Given the description of an element on the screen output the (x, y) to click on. 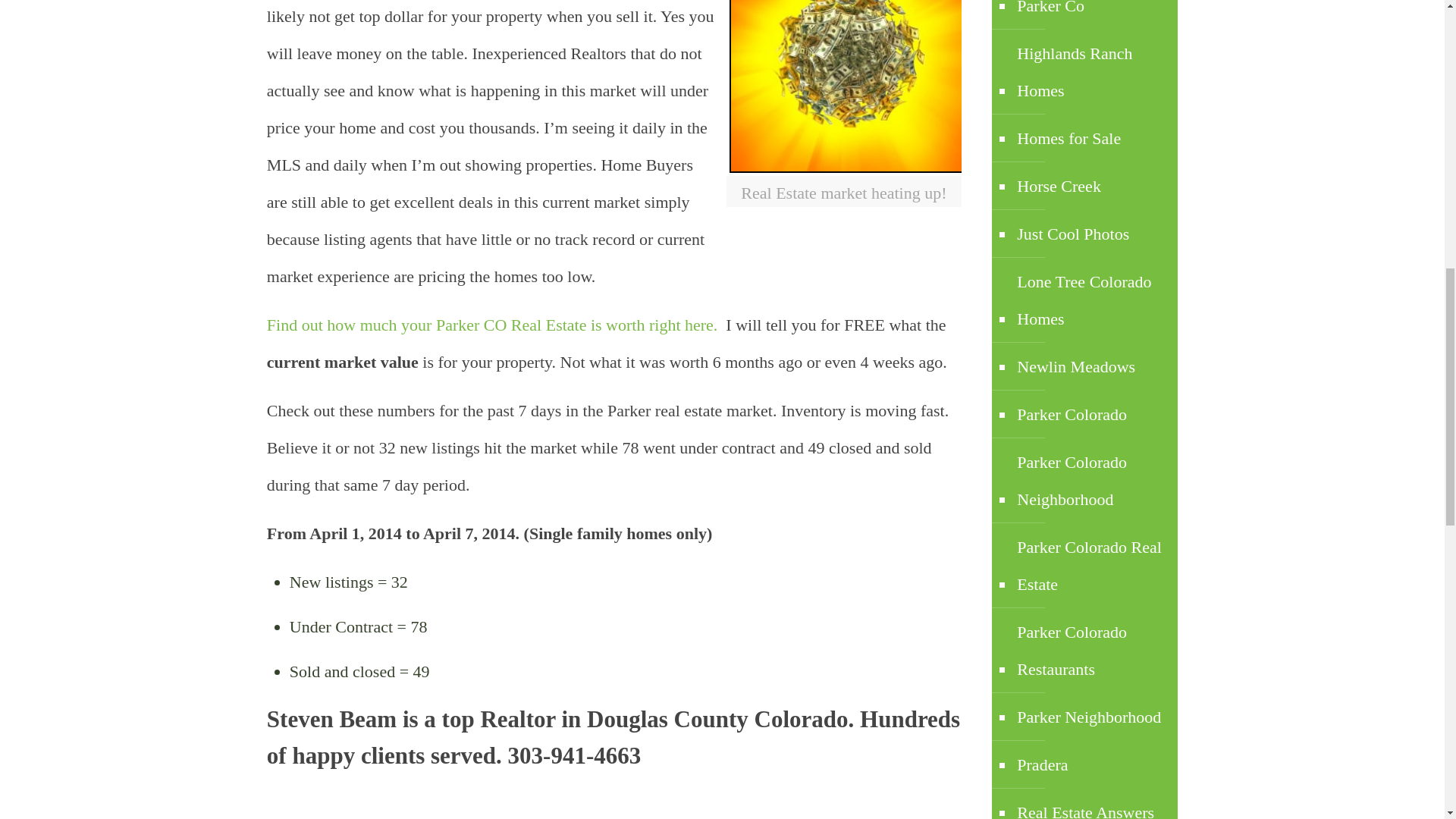
Steven Beam Client Testimonials (358, 755)
happy clients (358, 755)
Parker CO real estate values. (494, 324)
